Given the description of an element on the screen output the (x, y) to click on. 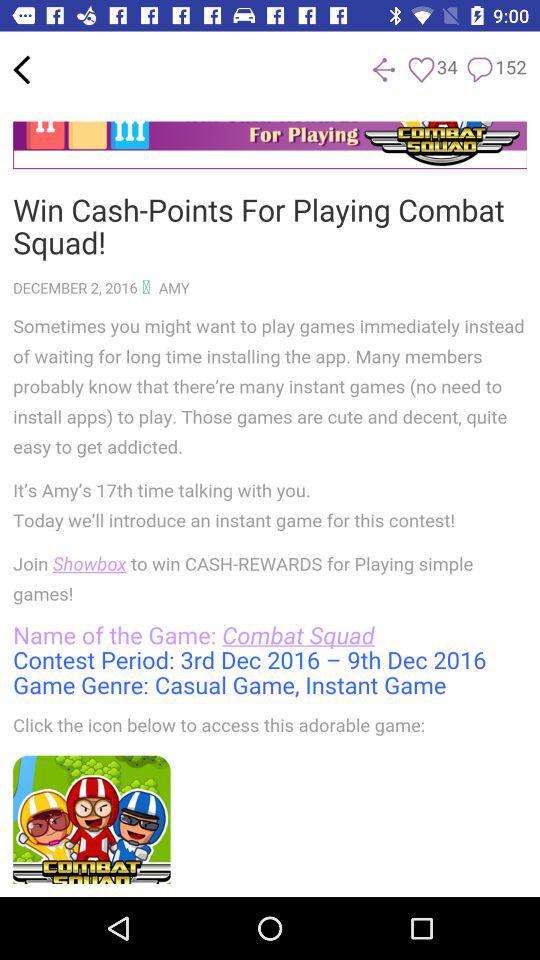
return to home page (21, 69)
